Given the description of an element on the screen output the (x, y) to click on. 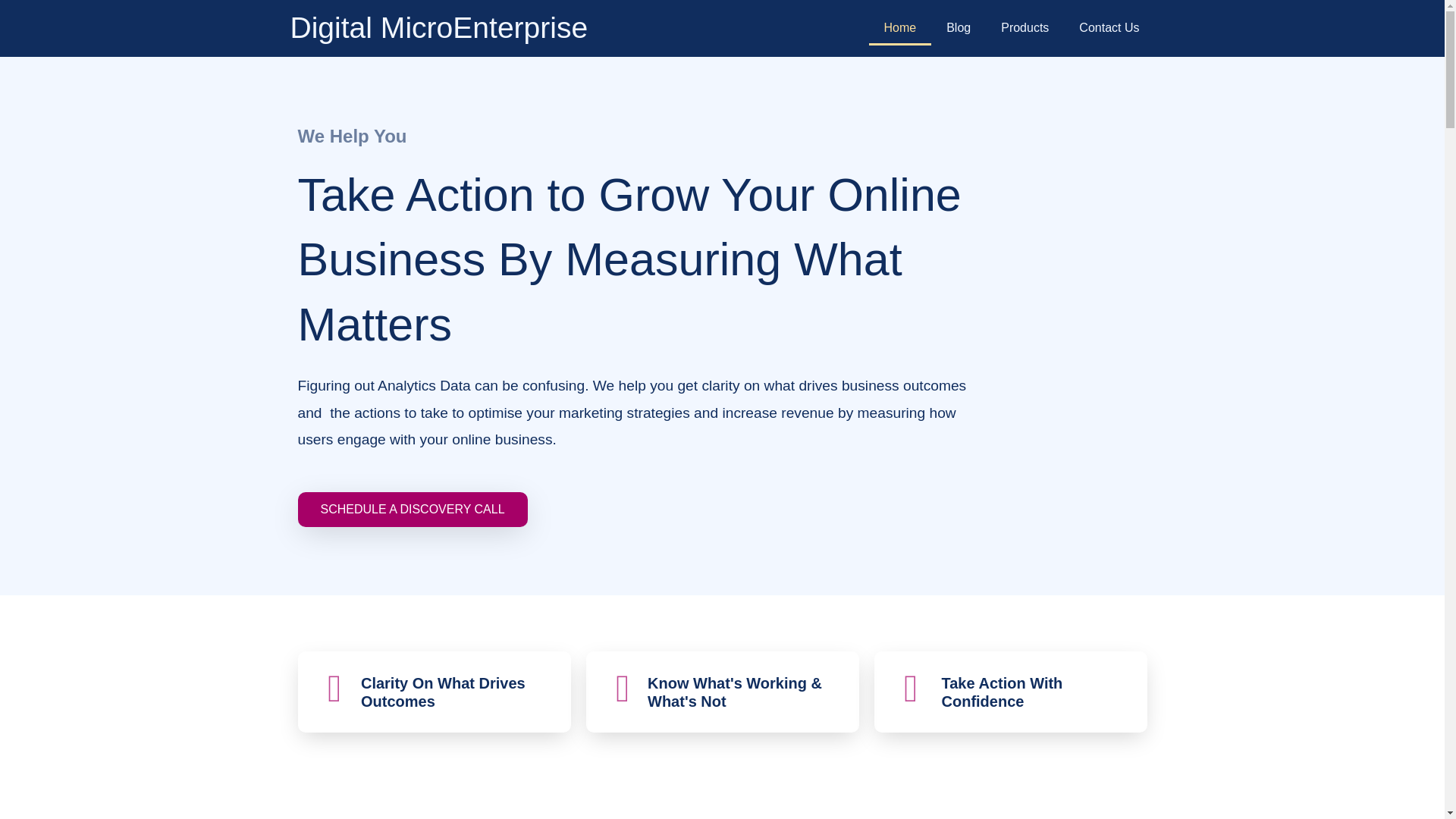
Products (1024, 27)
Blog (958, 27)
Contact Us (1109, 27)
Home (900, 27)
SCHEDULE A DISCOVERY CALL (412, 509)
Digital MicroEnterprise (438, 27)
